Given the description of an element on the screen output the (x, y) to click on. 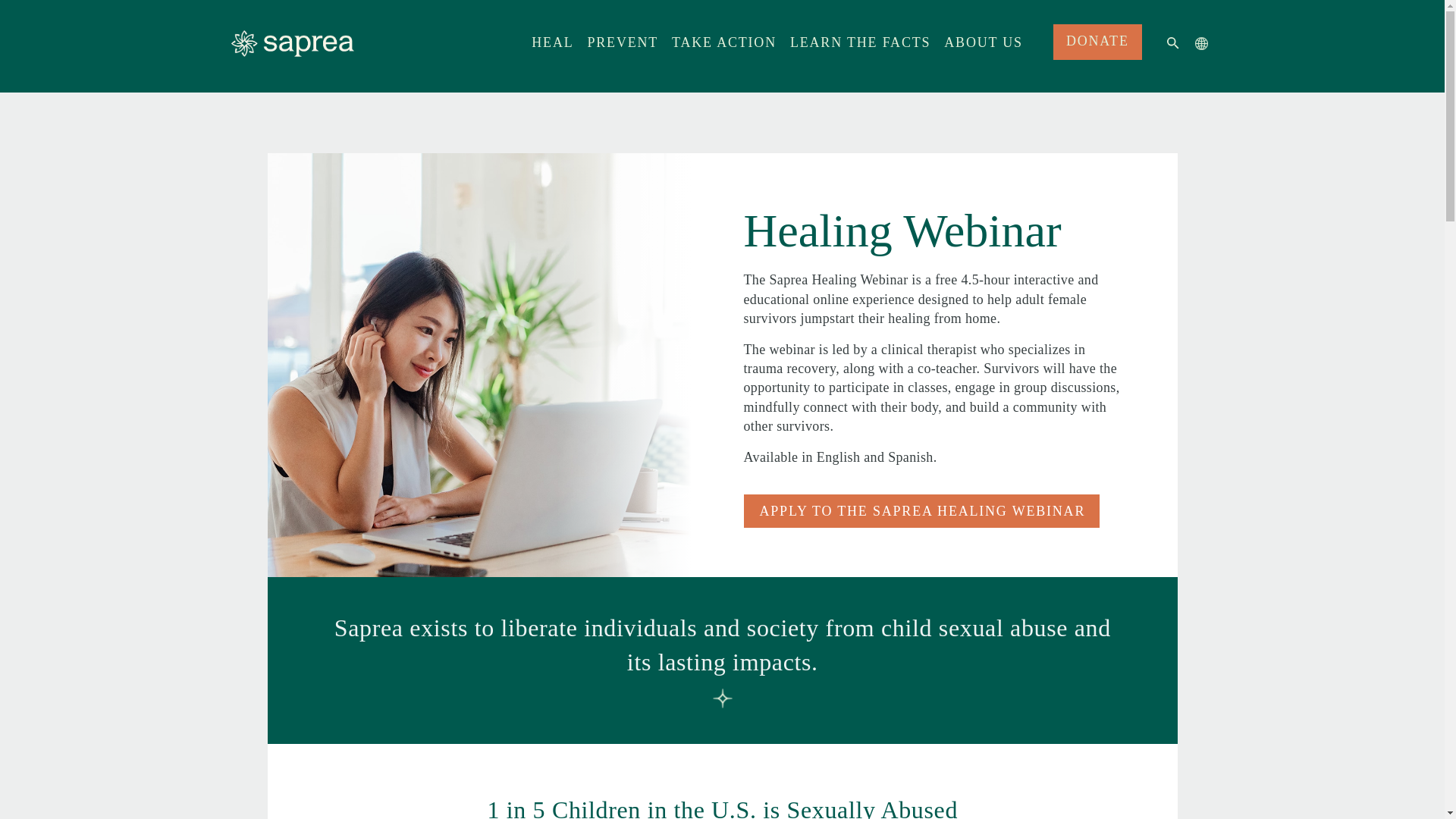
HEAL (552, 50)
TAKE ACTION (724, 50)
Saprea (291, 42)
TAKE ACTION (724, 50)
PREVENT (621, 50)
PREVENT (621, 50)
LEARN THE FACTS (860, 50)
LEARN THE FACTS (860, 50)
DONATE (1096, 41)
ABOUT US (983, 50)
